Given the description of an element on the screen output the (x, y) to click on. 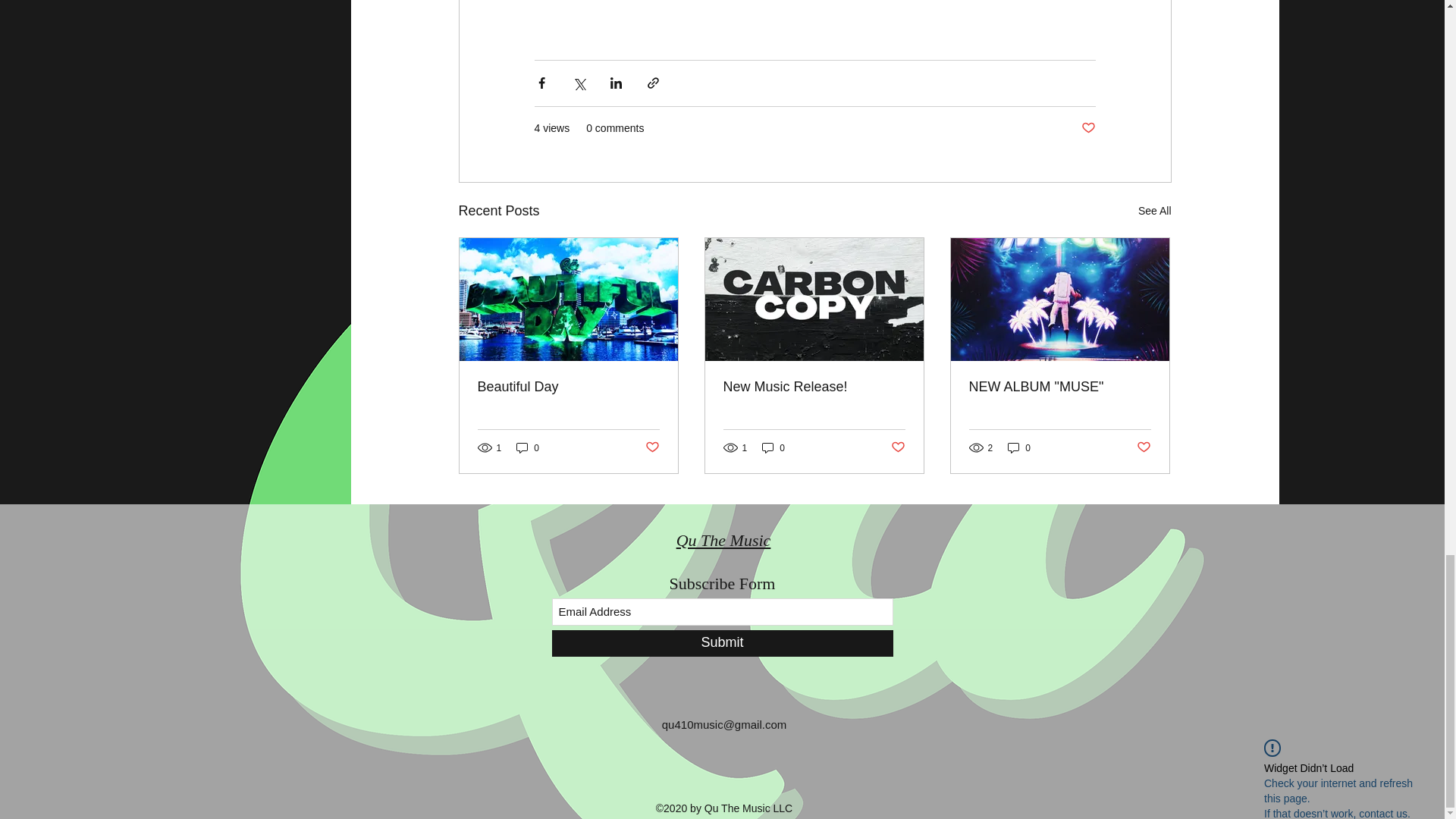
Post not marked as liked (1088, 127)
See All (1155, 210)
Beautiful Day (568, 386)
